Given the description of an element on the screen output the (x, y) to click on. 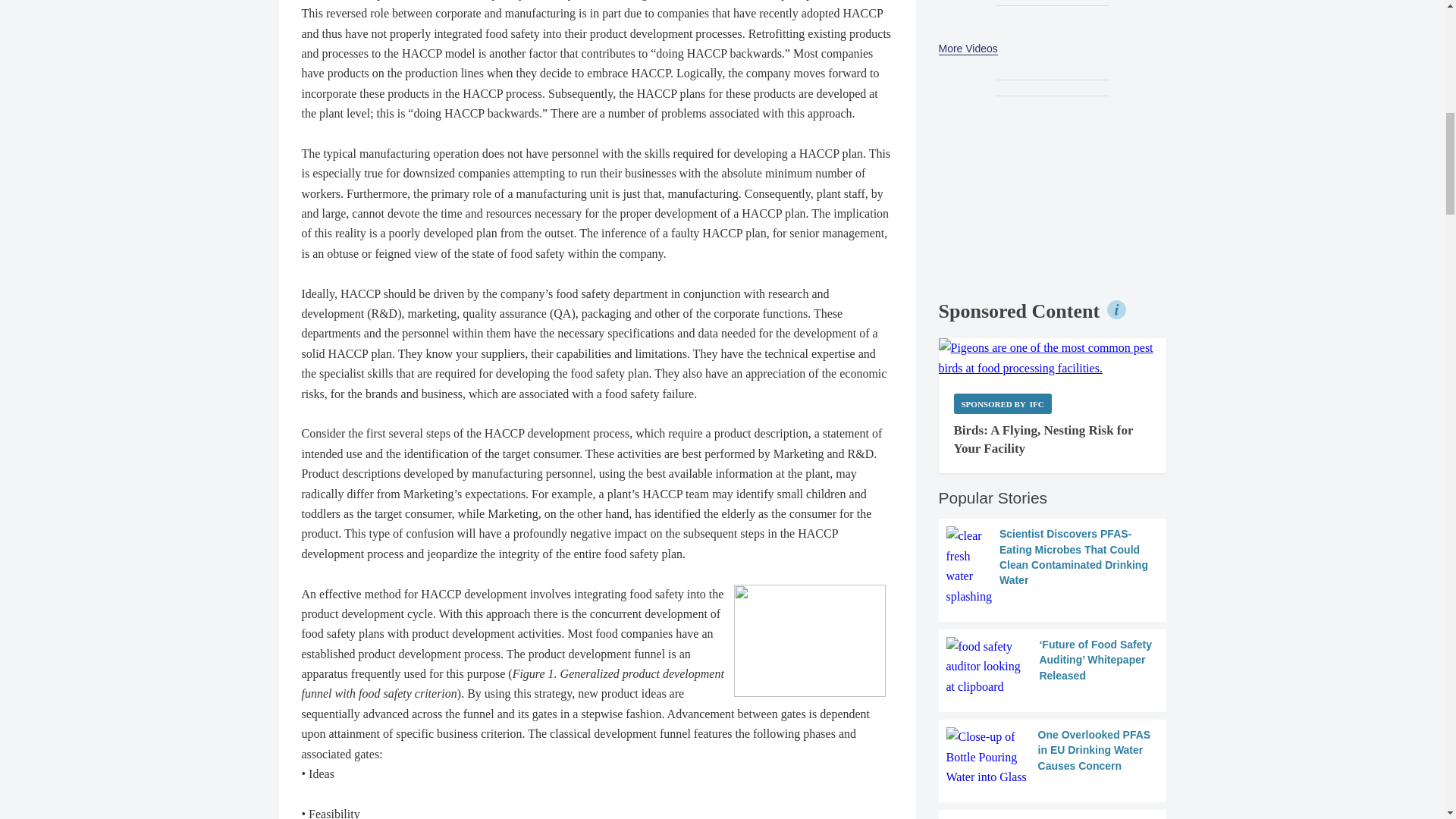
One Overlooked PFAS in EU Drinking Water Causes Concern (1052, 757)
Sponsored by IFC (1002, 403)
